Given the description of an element on the screen output the (x, y) to click on. 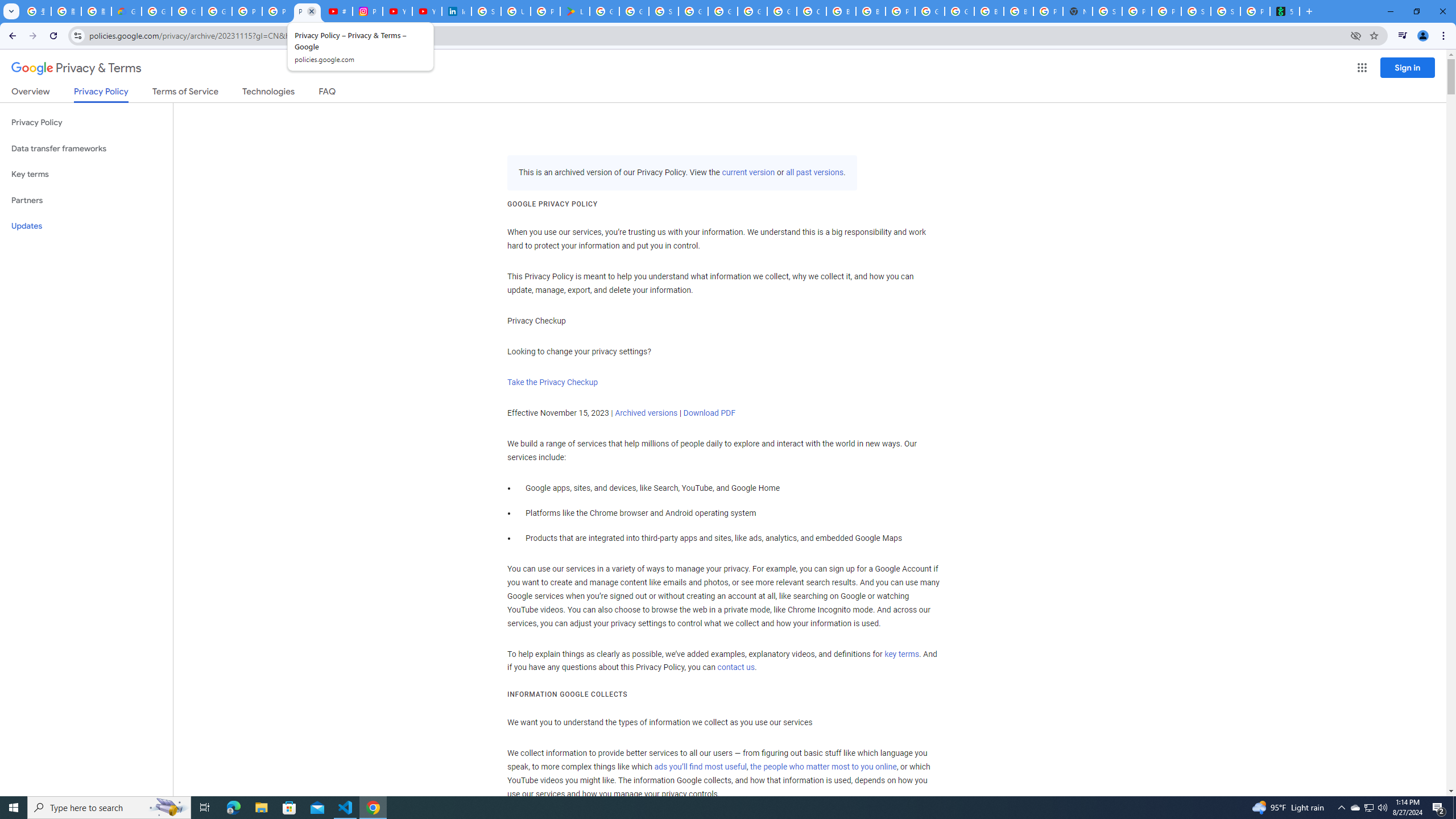
Google Cloud Platform (959, 11)
Sign in - Google Accounts (485, 11)
New Tab (1077, 11)
contact us (735, 667)
Sign in - Google Accounts (663, 11)
